Given the description of an element on the screen output the (x, y) to click on. 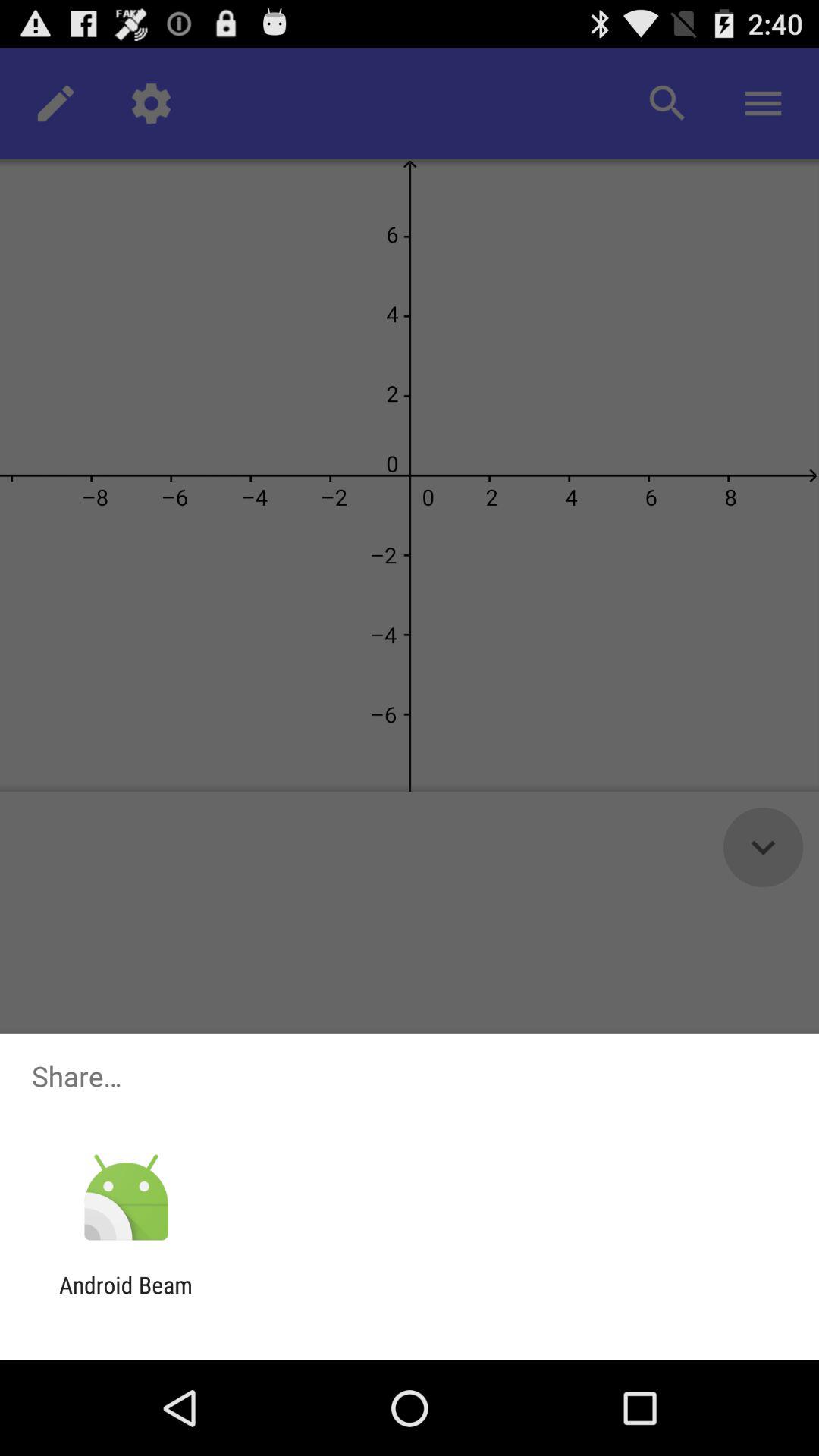
click the android beam icon (125, 1298)
